Given the description of an element on the screen output the (x, y) to click on. 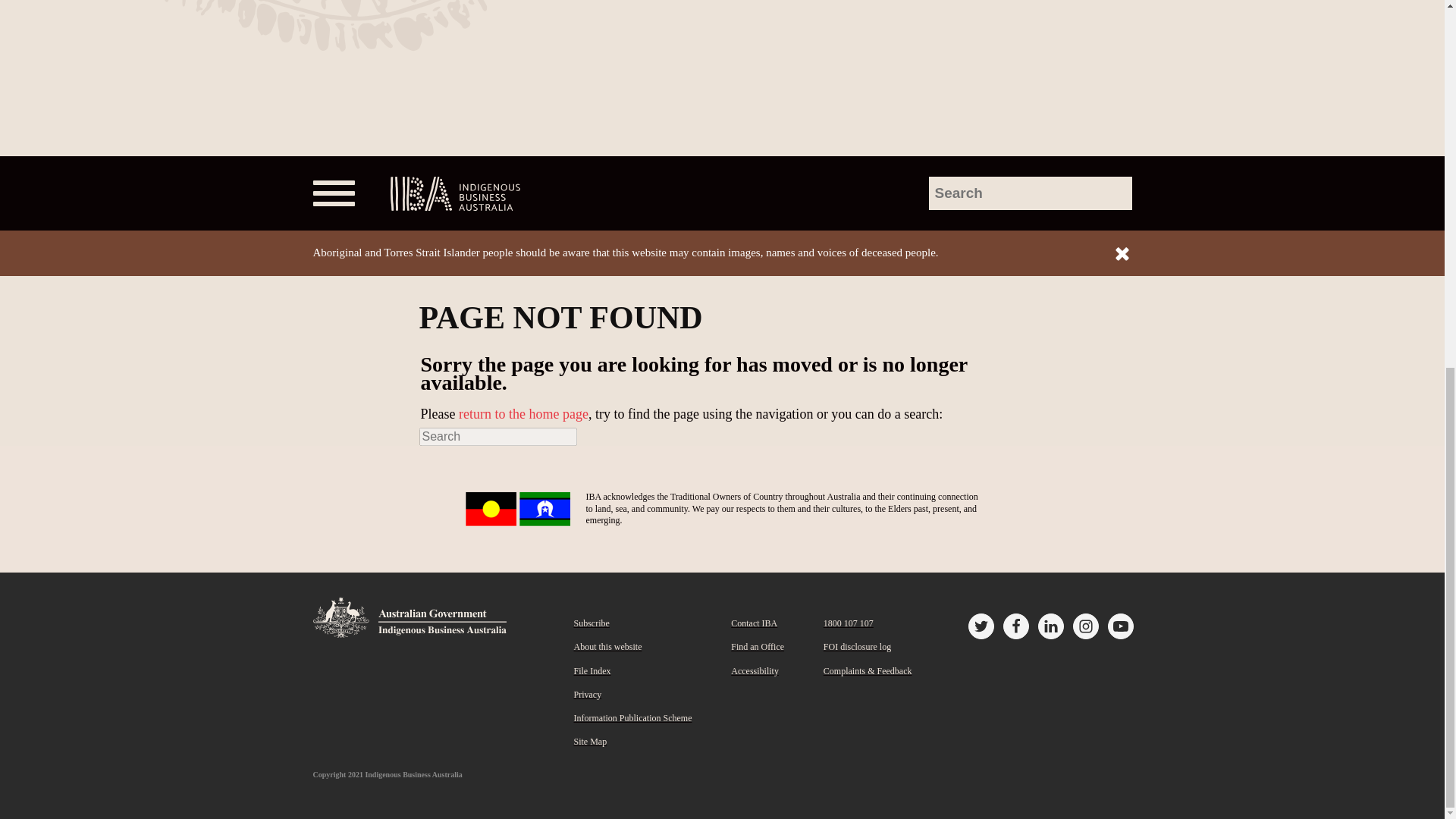
Instagram (1084, 626)
YouTube (1119, 626)
Facebook (1015, 626)
LinkedIn (1049, 626)
Twitter (980, 626)
